Given the description of an element on the screen output the (x, y) to click on. 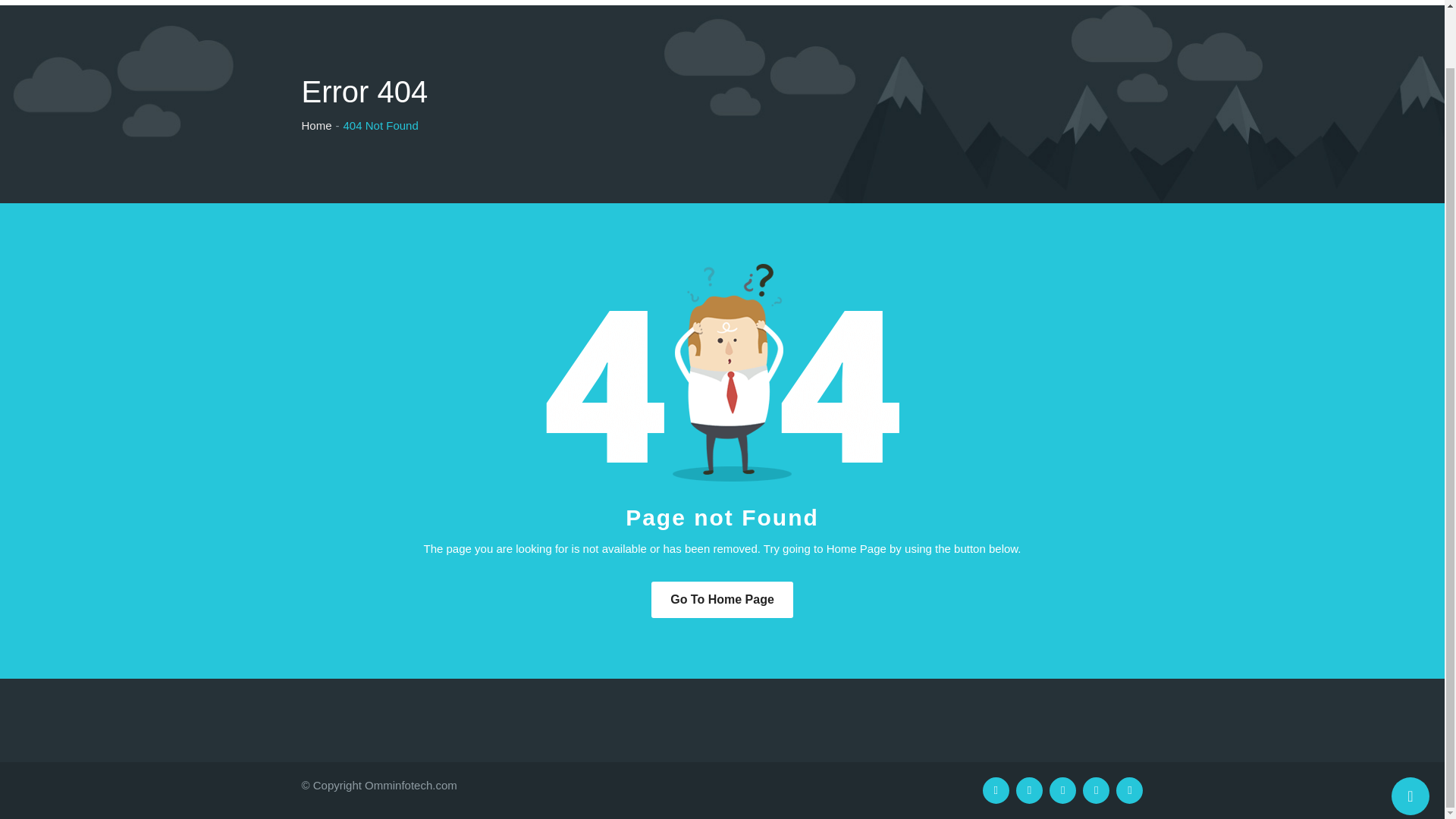
Testimonials (908, 2)
Home (1069, 2)
Contact Us (997, 2)
Portfolio (826, 2)
Home (615, 2)
Services (754, 2)
About us (681, 2)
